Given the description of an element on the screen output the (x, y) to click on. 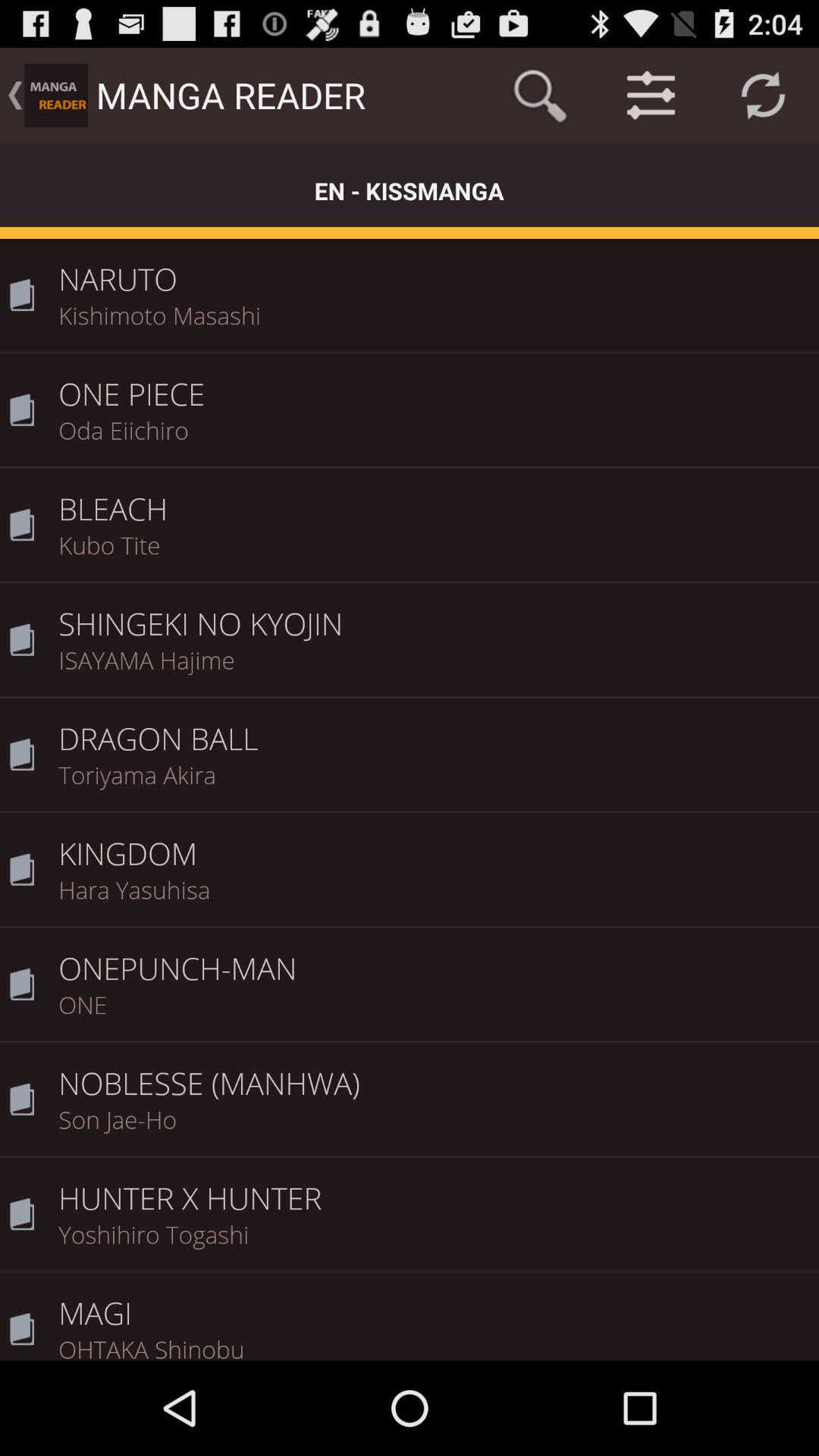
turn off app below the en - kissmanga item (433, 268)
